Given the description of an element on the screen output the (x, y) to click on. 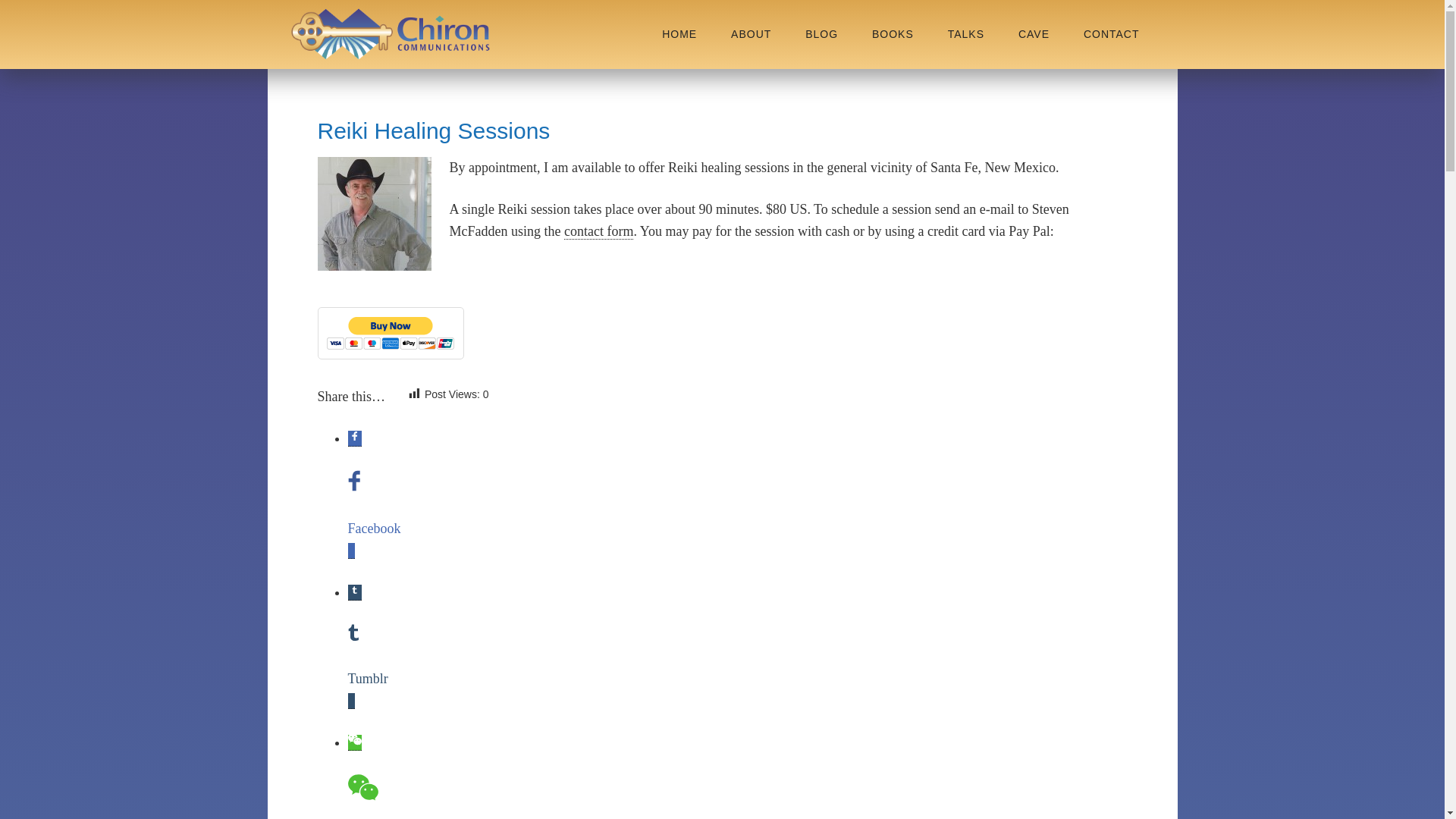
CONTACT (1111, 34)
CHIRON COMMUNICATIONS (389, 34)
contact form (598, 231)
Tumblr (376, 679)
CAVE (1033, 34)
HOME (678, 34)
Facebook (376, 528)
BOOKS (892, 34)
ABOUT (751, 34)
TALKS (965, 34)
